Given the description of an element on the screen output the (x, y) to click on. 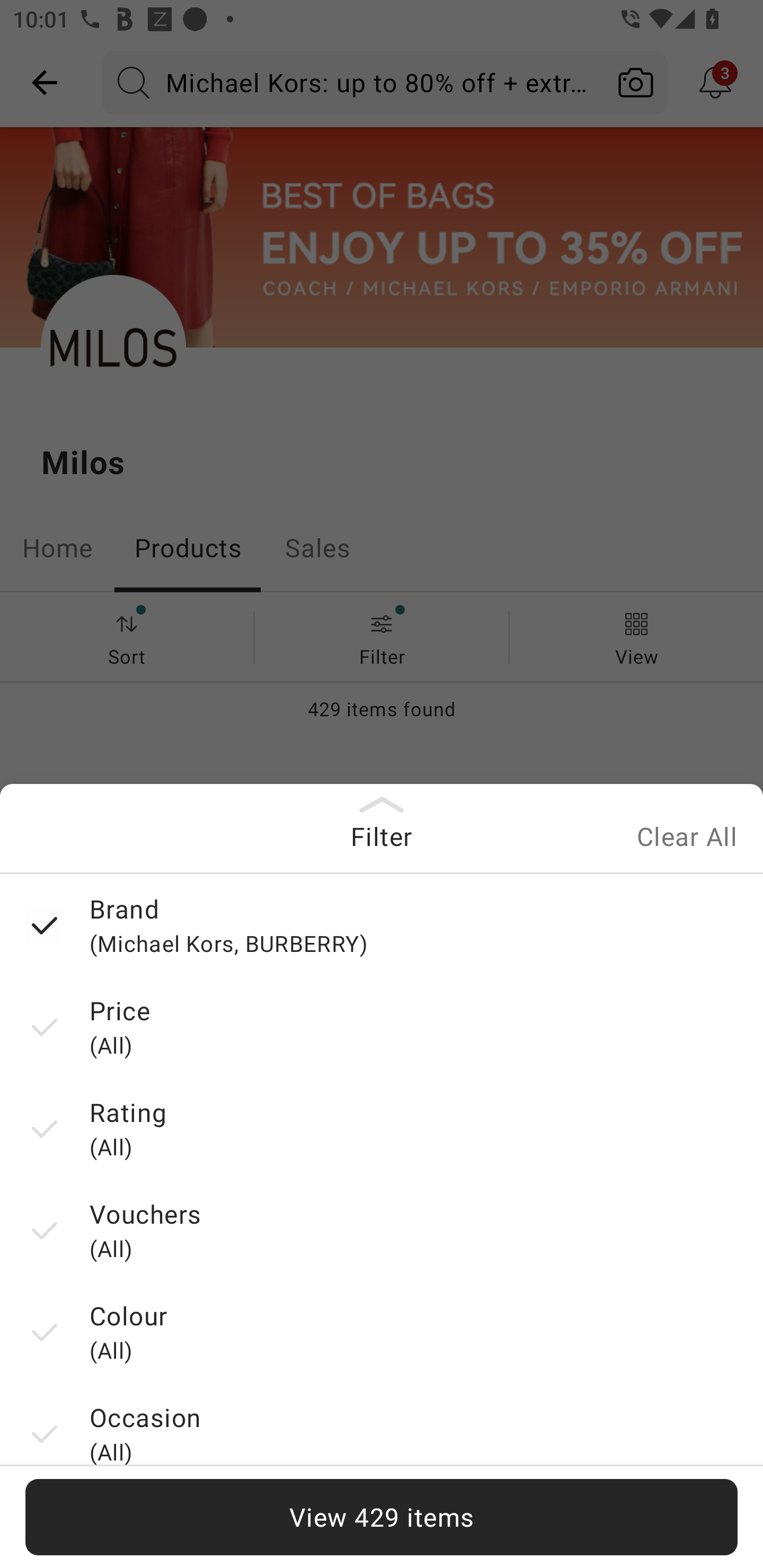
Clear All (686, 838)
Brand (Michael Kors, BURBERRY) (381, 924)
Price (All) (381, 1026)
Rating (All) (381, 1128)
Vouchers (All) (381, 1230)
Colour (All) (381, 1331)
Occasion (All) (381, 1433)
View 429 items (381, 1516)
